Given the description of an element on the screen output the (x, y) to click on. 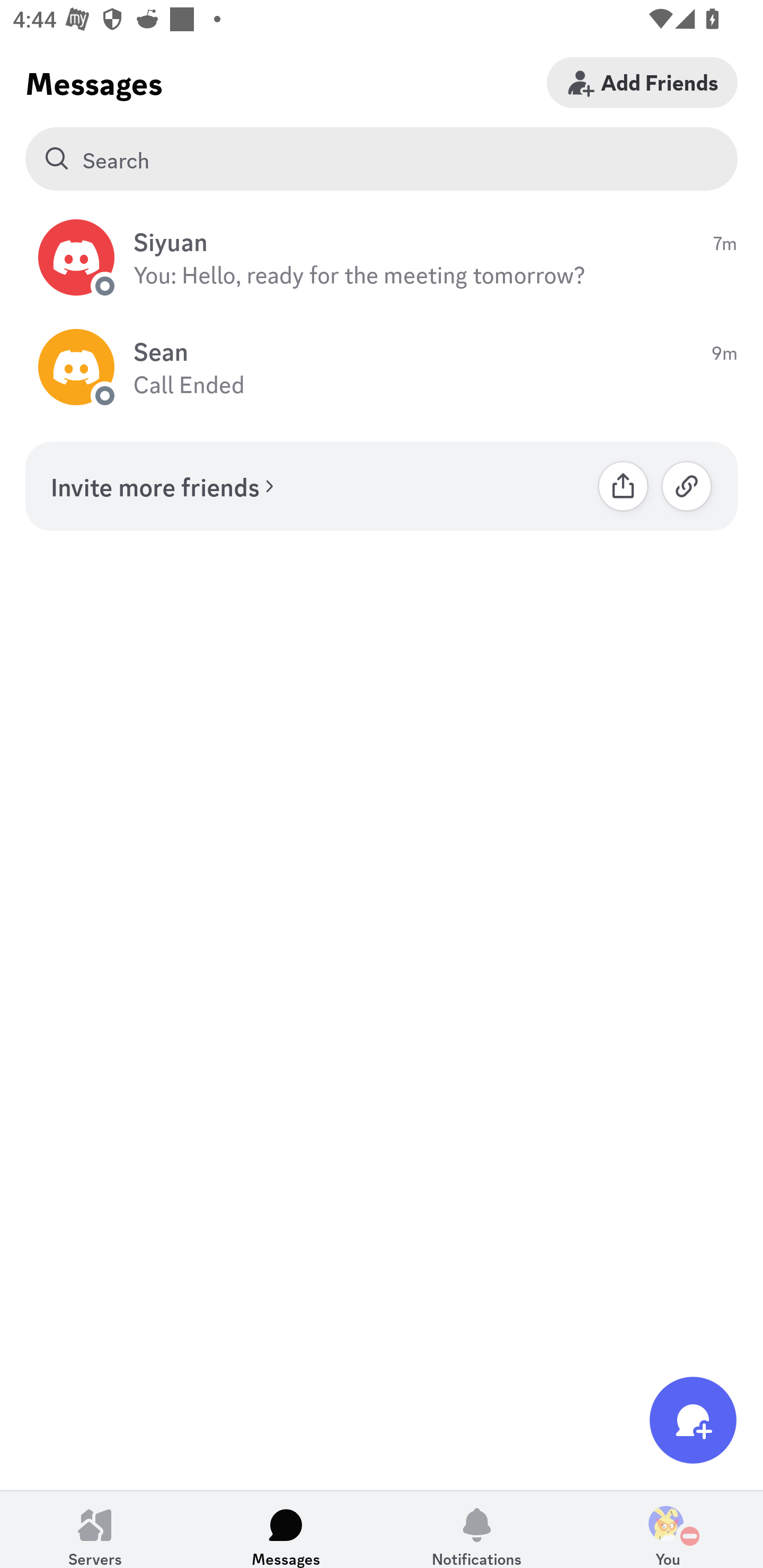
Add Friends (642, 82)
Search (381, 159)
Sean (direct message) Sean 9m Call Ended (381, 367)
Share Link (622, 485)
Copy Link (686, 485)
New Message (692, 1419)
Servers (95, 1529)
Messages (285, 1529)
Notifications (476, 1529)
You (667, 1529)
